Given the description of an element on the screen output the (x, y) to click on. 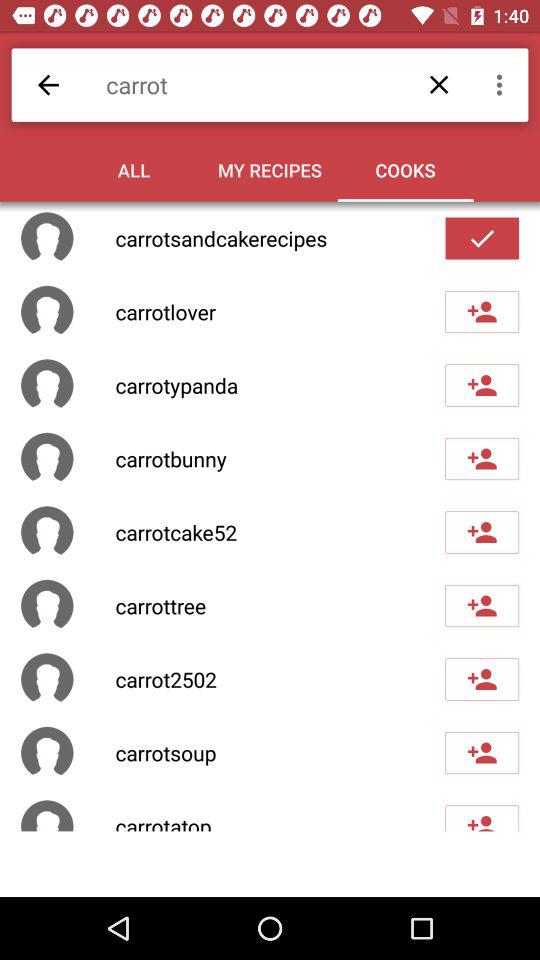
follow user (482, 532)
